Given the description of an element on the screen output the (x, y) to click on. 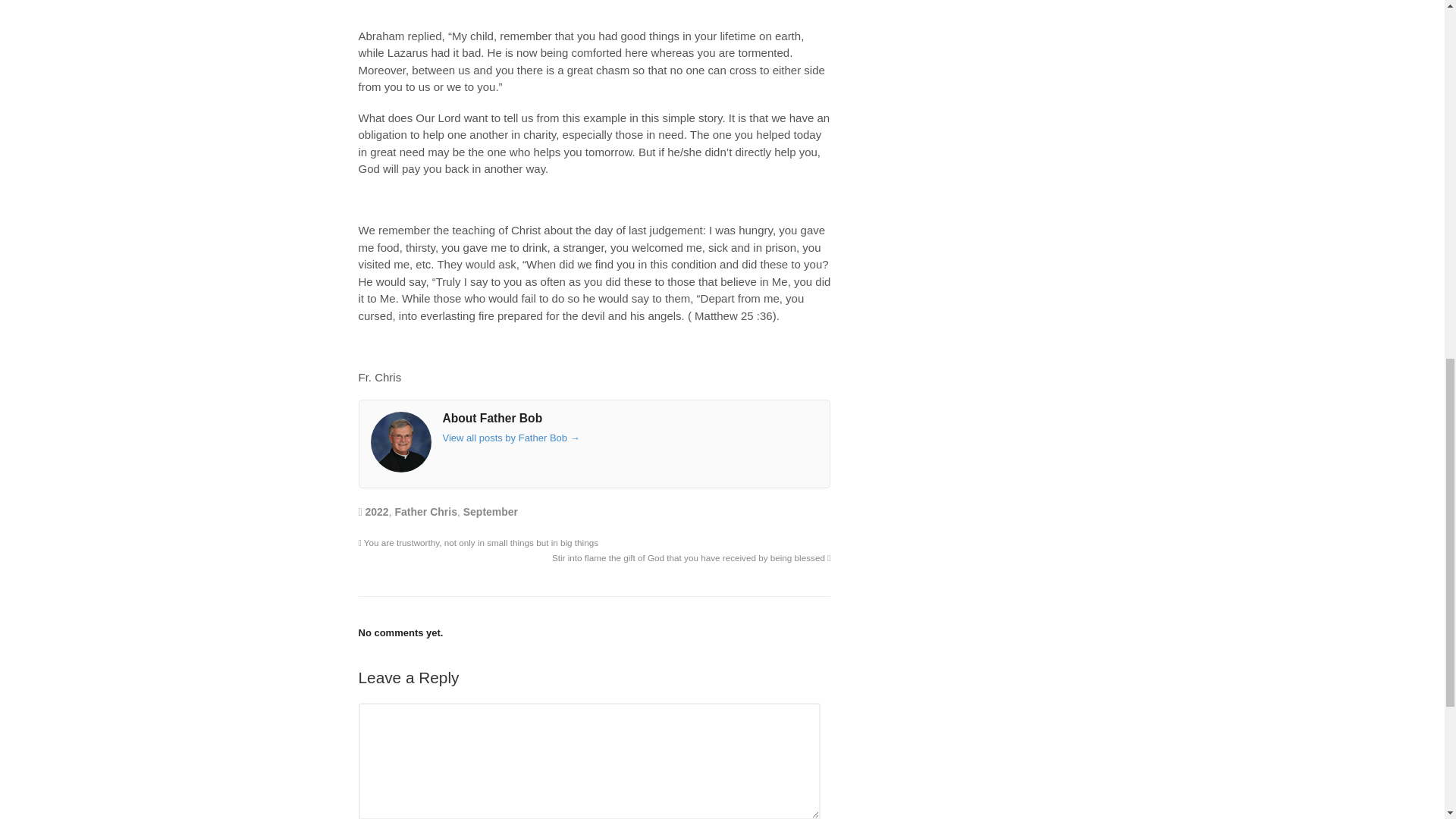
September (490, 511)
Father Chris (425, 511)
2022 (376, 511)
